Given the description of an element on the screen output the (x, y) to click on. 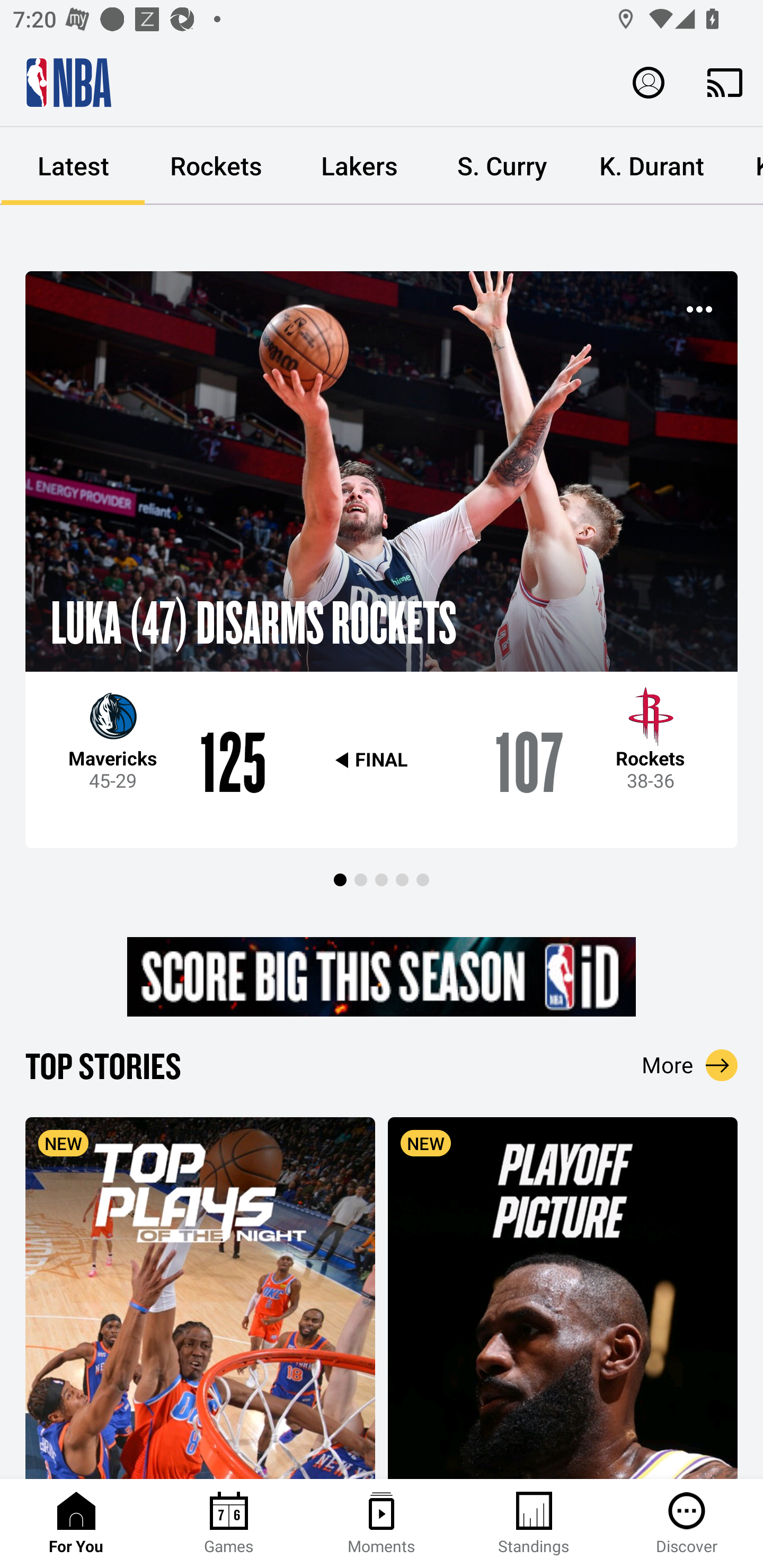
Cast. Disconnected (724, 82)
Profile (648, 81)
Rockets (215, 166)
Lakers (359, 166)
S. Curry (502, 166)
K. Durant (651, 166)
TOP STORIES More NEW NEW (381, 1260)
More (689, 1064)
NEW (200, 1297)
NEW (562, 1297)
Games (228, 1523)
Moments (381, 1523)
Standings (533, 1523)
Discover (686, 1523)
